Given the description of an element on the screen output the (x, y) to click on. 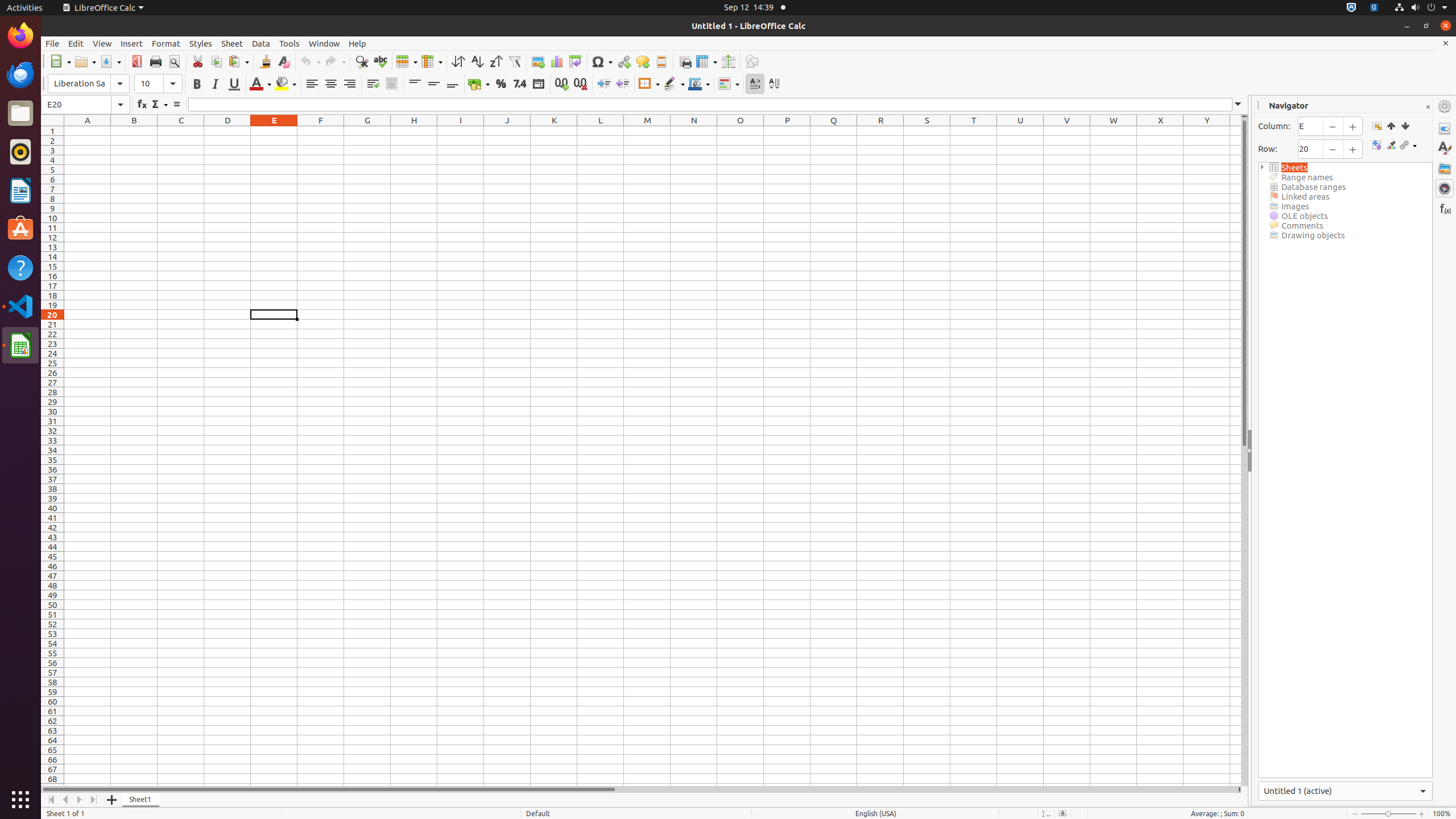
Open Element type: push-button (84, 61)
Move Left Element type: push-button (65, 799)
Align Right Element type: push-button (349, 83)
Select Function Element type: push-button (159, 104)
Chart Element type: push-button (556, 61)
